Given the description of an element on the screen output the (x, y) to click on. 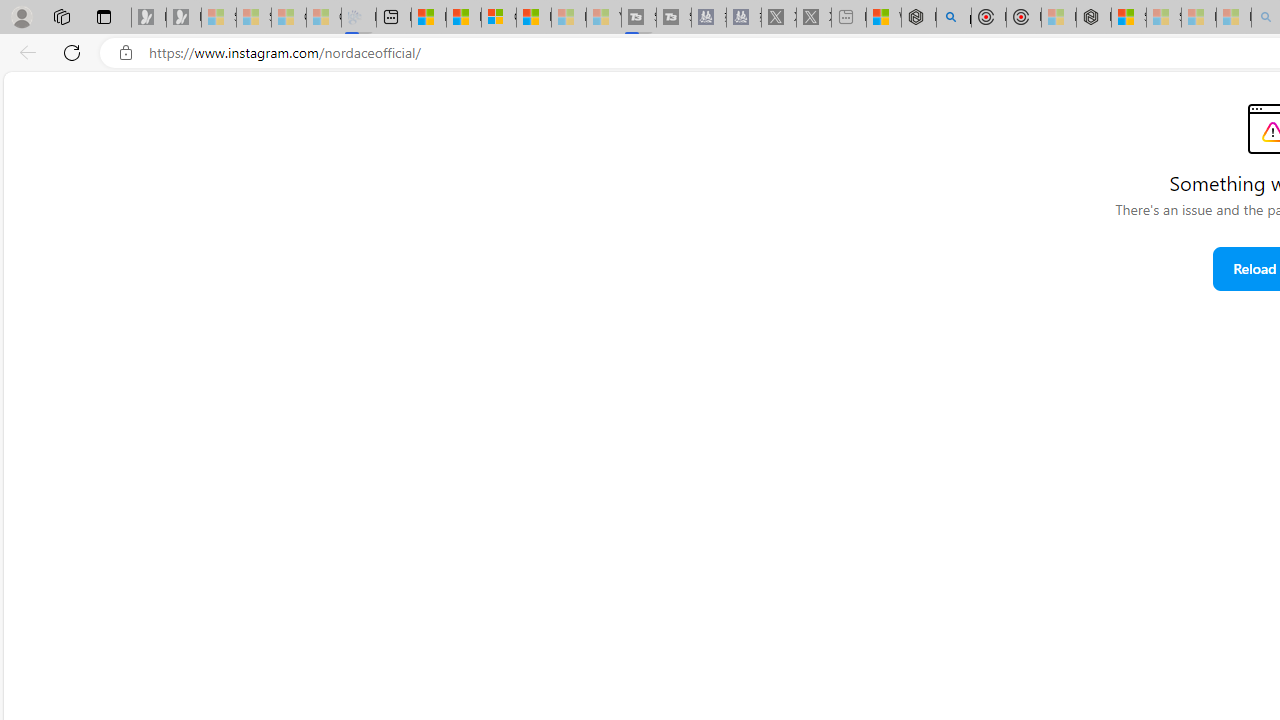
poe - Search (954, 17)
